Given the description of an element on the screen output the (x, y) to click on. 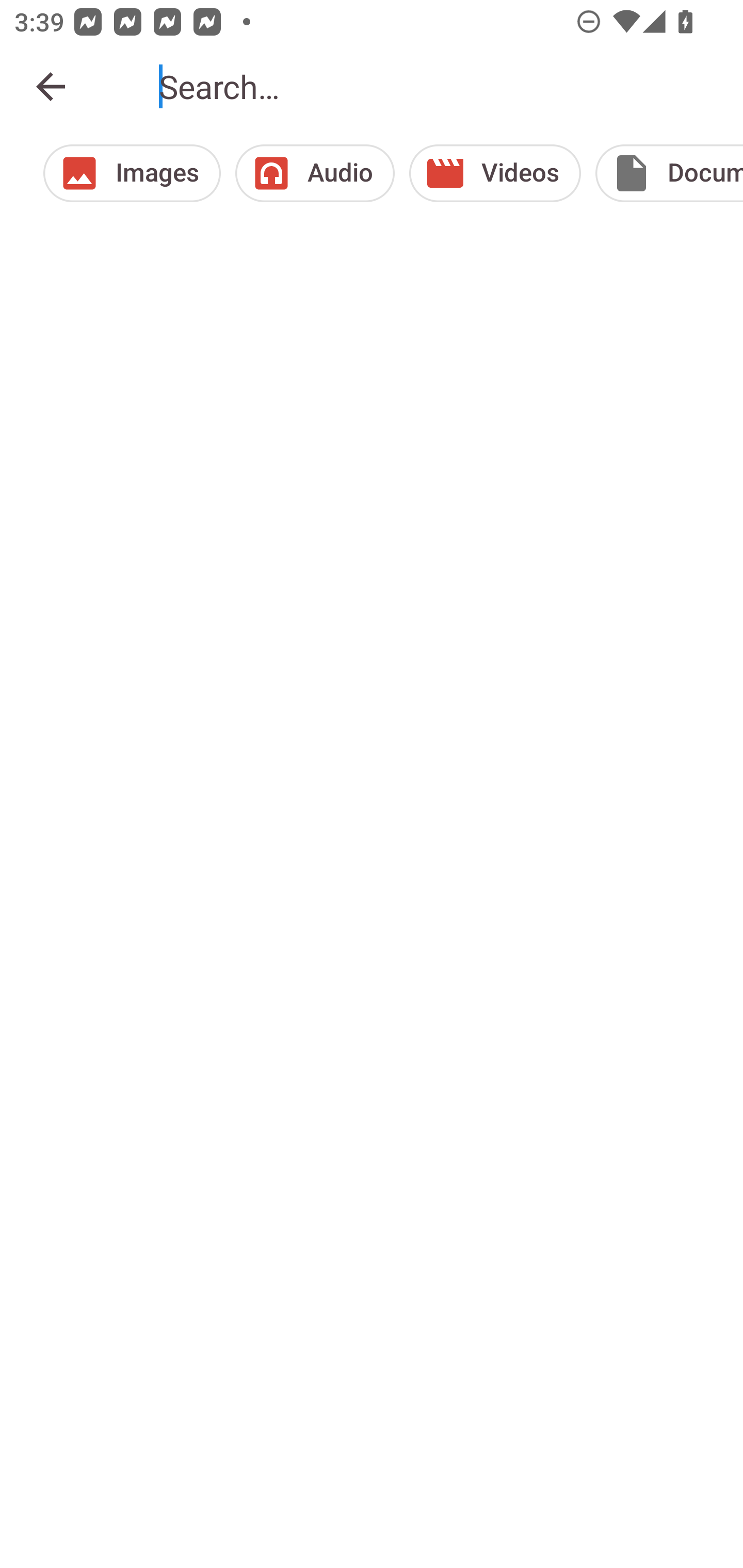
Back (50, 86)
Search… (436, 86)
Images (131, 173)
Audio (314, 173)
Videos (495, 173)
Documents (669, 173)
